Given the description of an element on the screen output the (x, y) to click on. 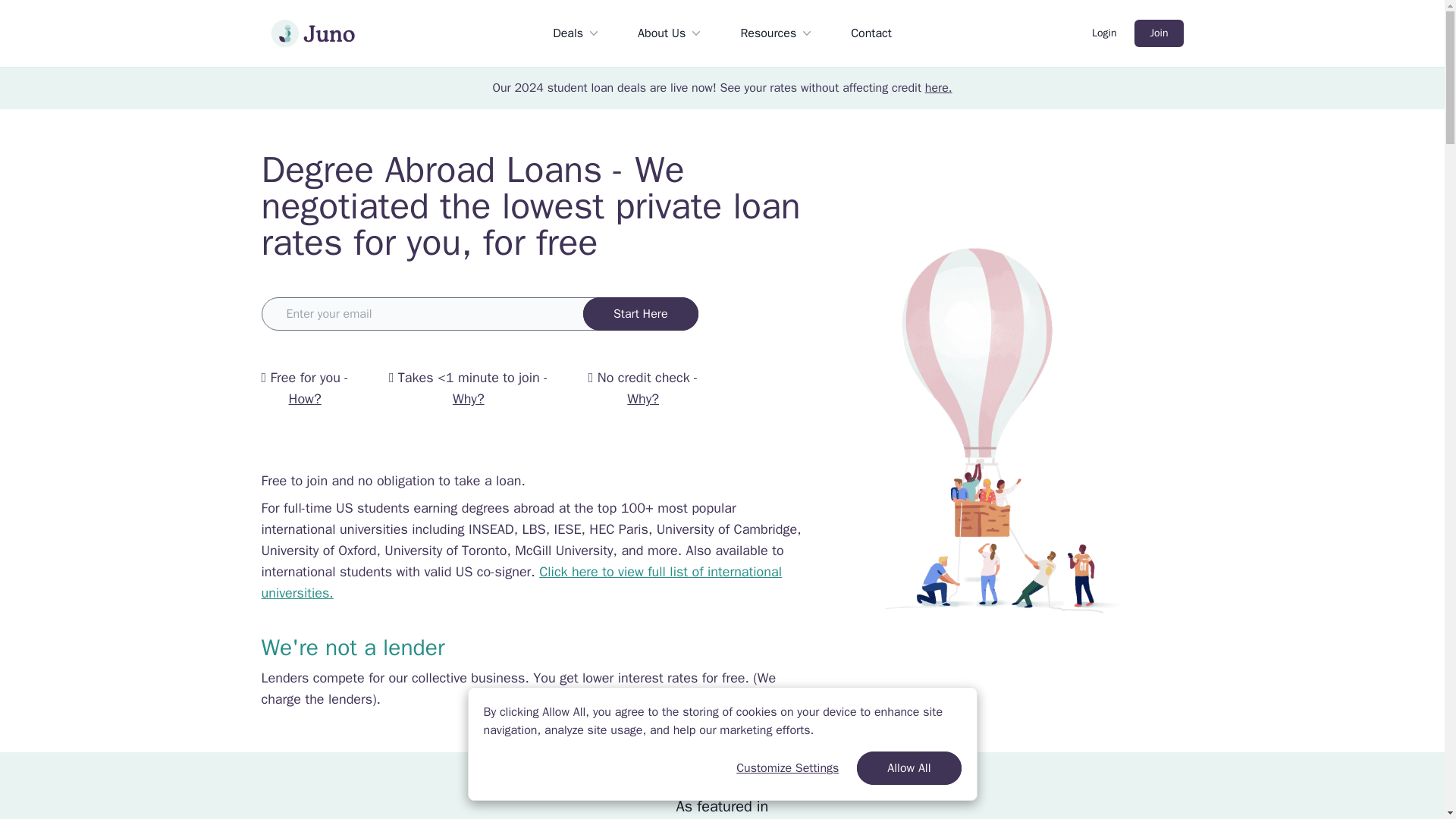
Resources (776, 33)
Allow All (908, 767)
Deals (577, 33)
About Us (670, 33)
Customize Settings (787, 768)
Join Juno (312, 33)
